Given the description of an element on the screen output the (x, y) to click on. 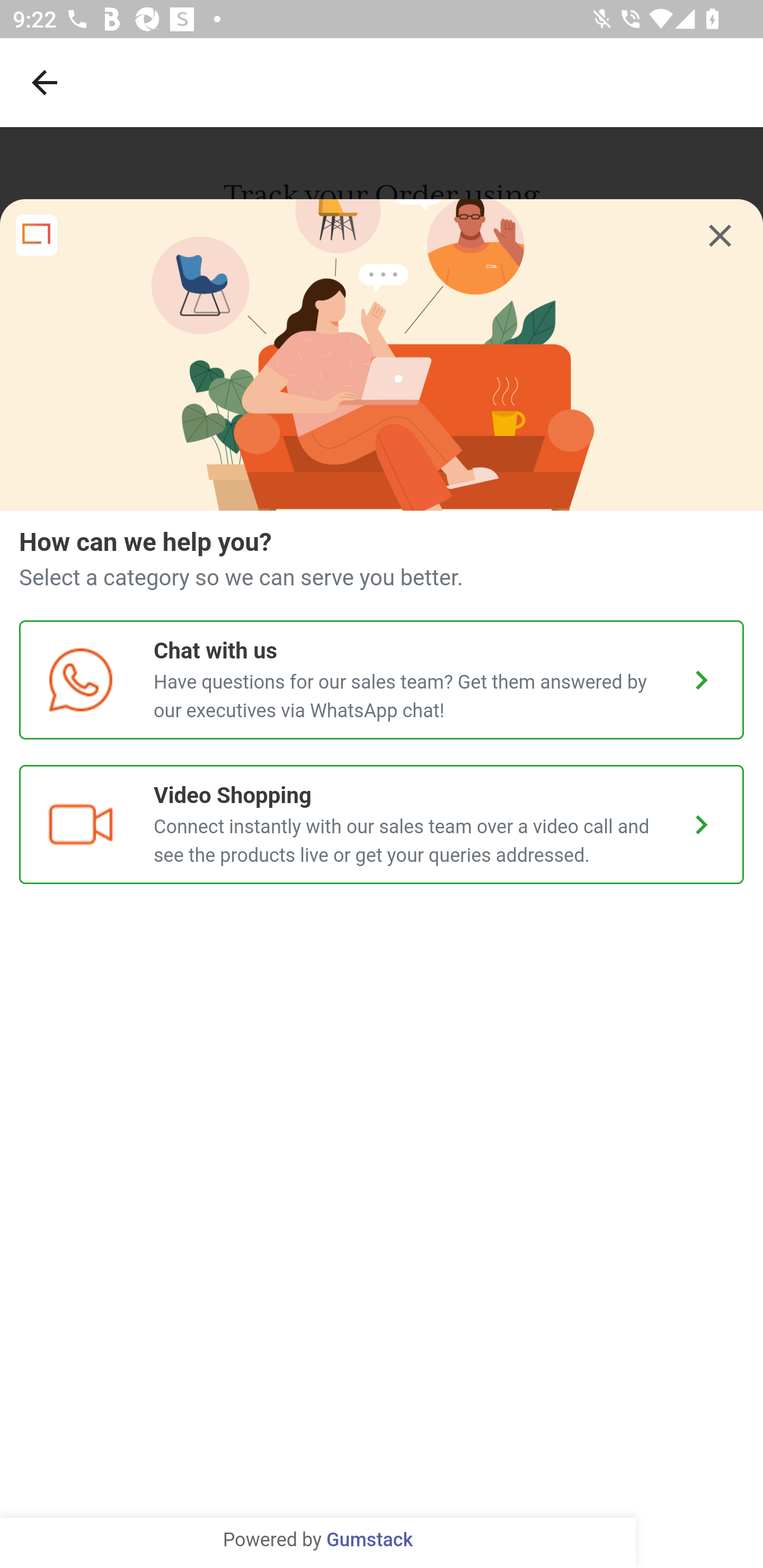
Navigate up (44, 82)
clear (720, 235)
Gumstack (369, 1540)
